Given the description of an element on the screen output the (x, y) to click on. 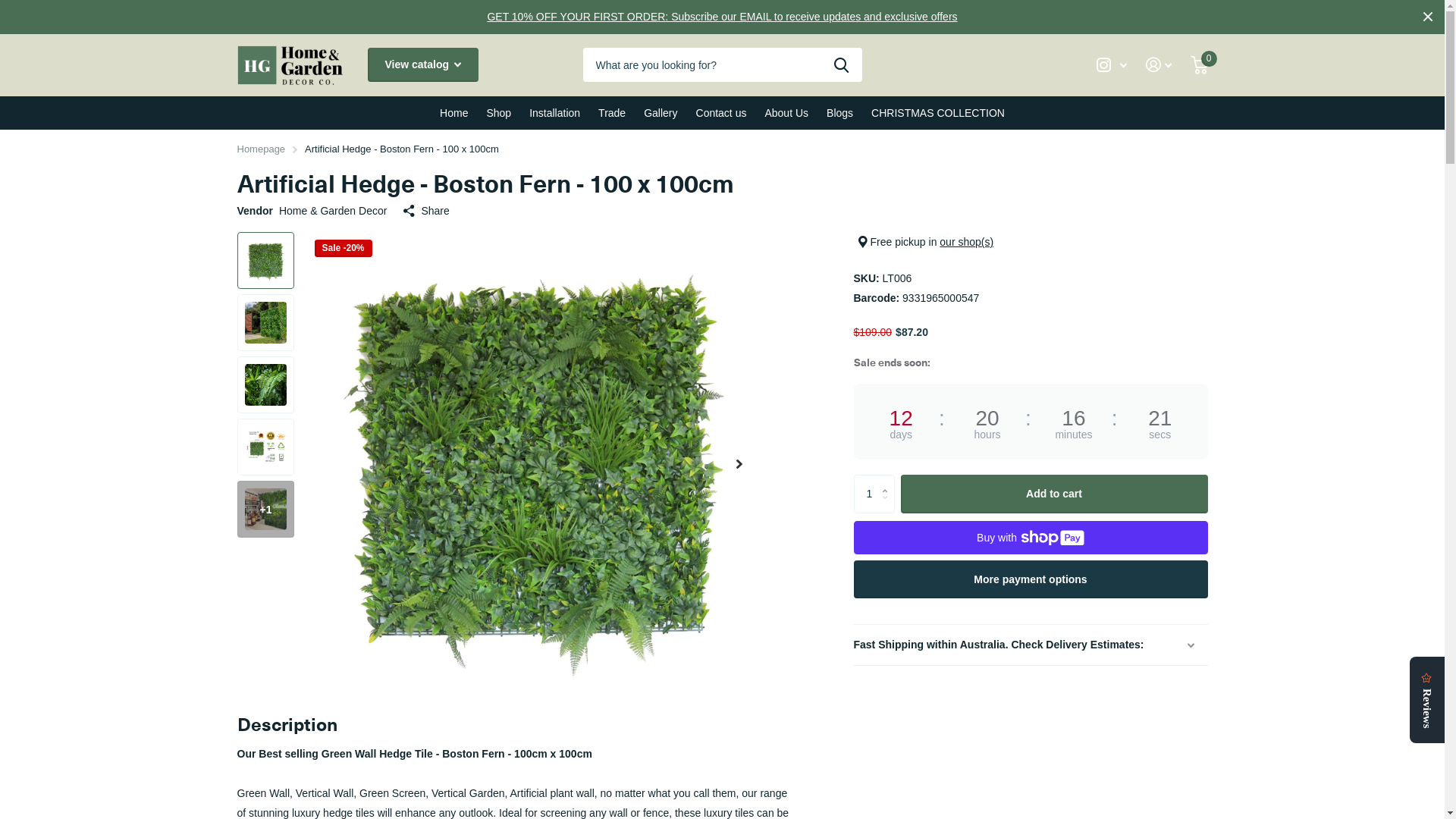
+1 Element type: text (265, 508)
Gallery Element type: text (660, 112)
Shop Element type: text (498, 112)
CHRISTMAS COLLECTION Element type: text (937, 112)
About Us Element type: text (786, 112)
Blogs Element type: text (839, 112)
https://www.hgdco.com.au/policies/shipping-policy Element type: hover (969, 793)
Share Element type: text (425, 210)
Add to cart Element type: text (1054, 493)
our shop(s) Element type: text (966, 241)
Installation Element type: text (554, 112)
0 Element type: text (1199, 64)
View catalog Element type: text (422, 64)
Zoeken Element type: text (841, 64)
More payment options Element type: text (1030, 579)
Close Element type: text (1427, 16)
Trade Element type: text (611, 112)
Home Element type: text (453, 112)
Homepage Element type: text (260, 148)
Contact us Element type: text (721, 112)
